Given the description of an element on the screen output the (x, y) to click on. 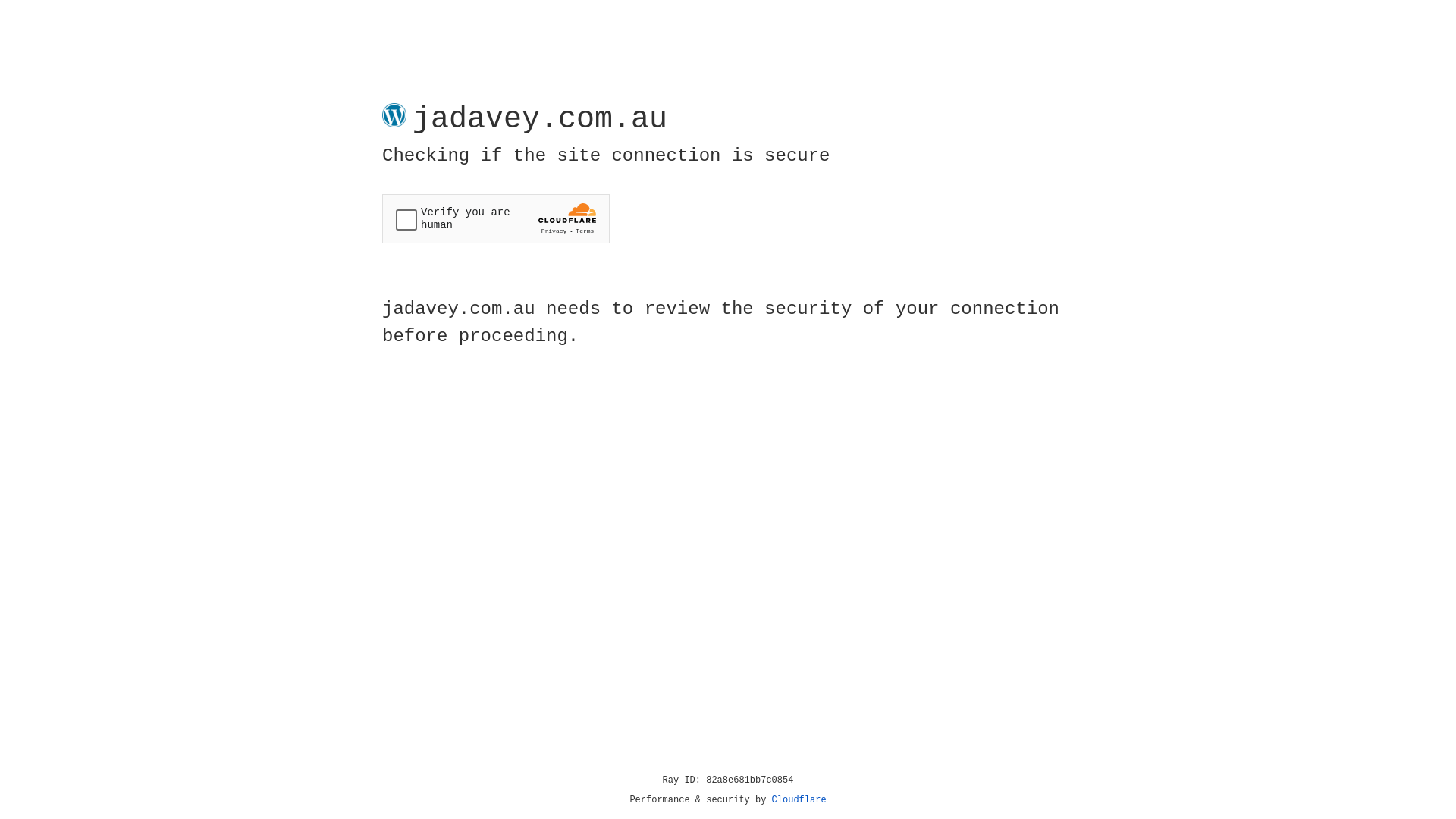
Cloudflare Element type: text (798, 799)
Widget containing a Cloudflare security challenge Element type: hover (495, 218)
